Given the description of an element on the screen output the (x, y) to click on. 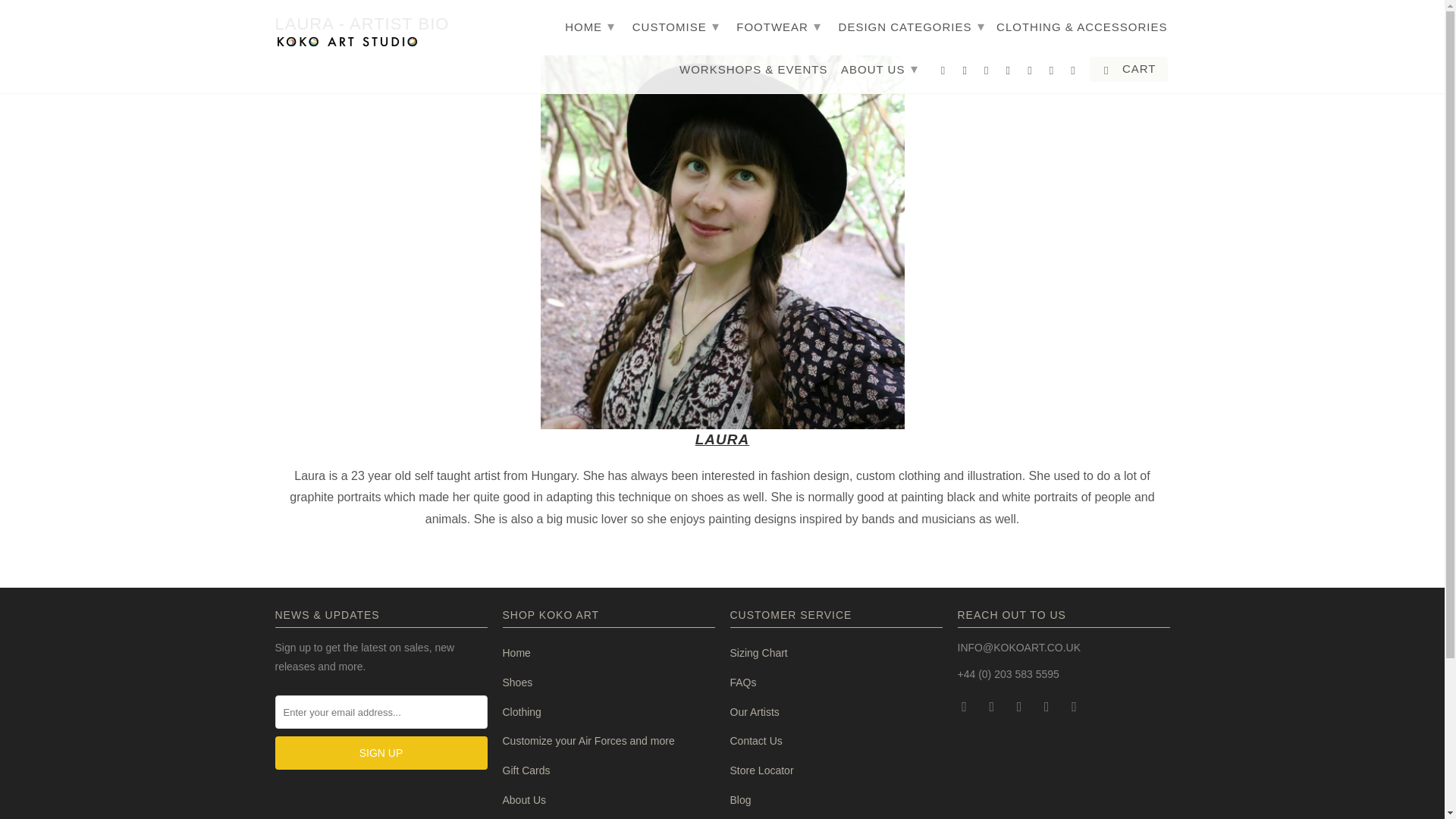
KOKO ART (347, 39)
KOKO ART on Instagram (1048, 705)
Email KOKO ART (1075, 705)
KOKO ART on Pinterest (1020, 705)
Sign Up (380, 752)
KOKO ART on Facebook (993, 705)
KOKO ART on Twitter (965, 705)
